Given the description of an element on the screen output the (x, y) to click on. 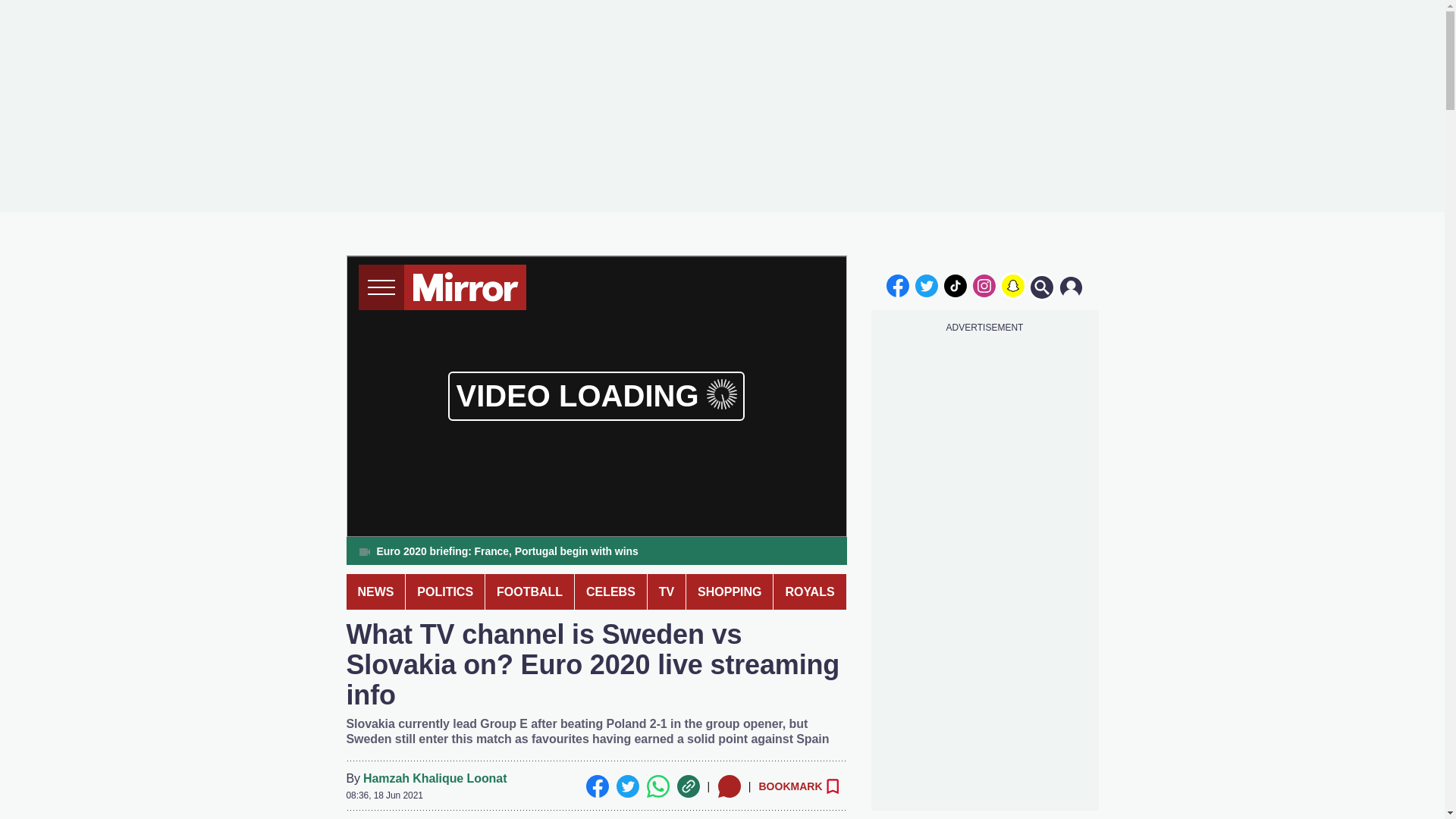
Facebook (596, 785)
tiktok (955, 285)
snapchat (1012, 285)
Twitter (627, 785)
facebook (897, 285)
instagram (984, 285)
NEWS (375, 591)
FOOTBALL (528, 591)
twitter (926, 285)
POLITICS (445, 591)
